Given the description of an element on the screen output the (x, y) to click on. 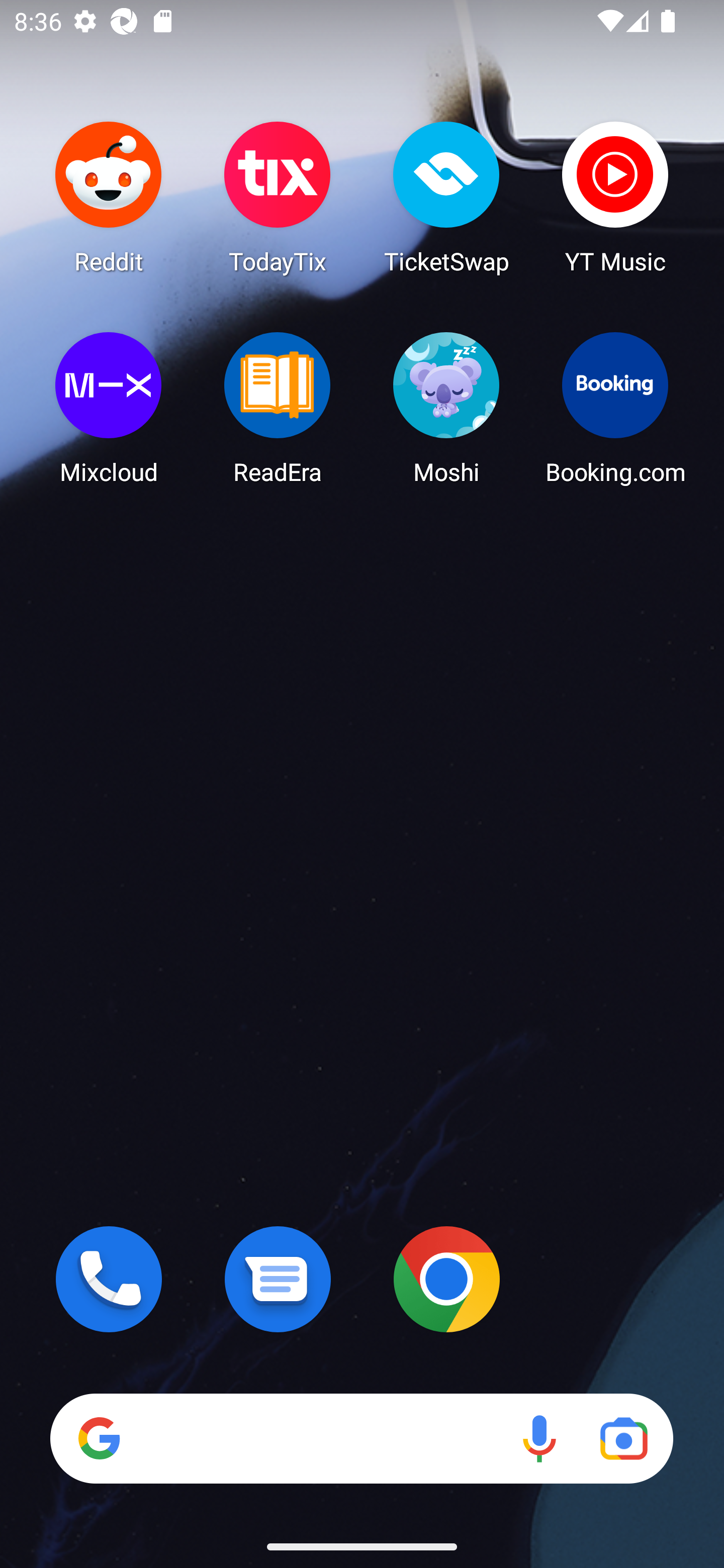
Reddit (108, 196)
TodayTix (277, 196)
TicketSwap (445, 196)
YT Music (615, 196)
Mixcloud (108, 407)
ReadEra (277, 407)
Moshi (445, 407)
Booking.com (615, 407)
Phone (108, 1279)
Messages (277, 1279)
Chrome (446, 1279)
Search Voice search Google Lens (361, 1438)
Voice search (539, 1438)
Google Lens (623, 1438)
